Given the description of an element on the screen output the (x, y) to click on. 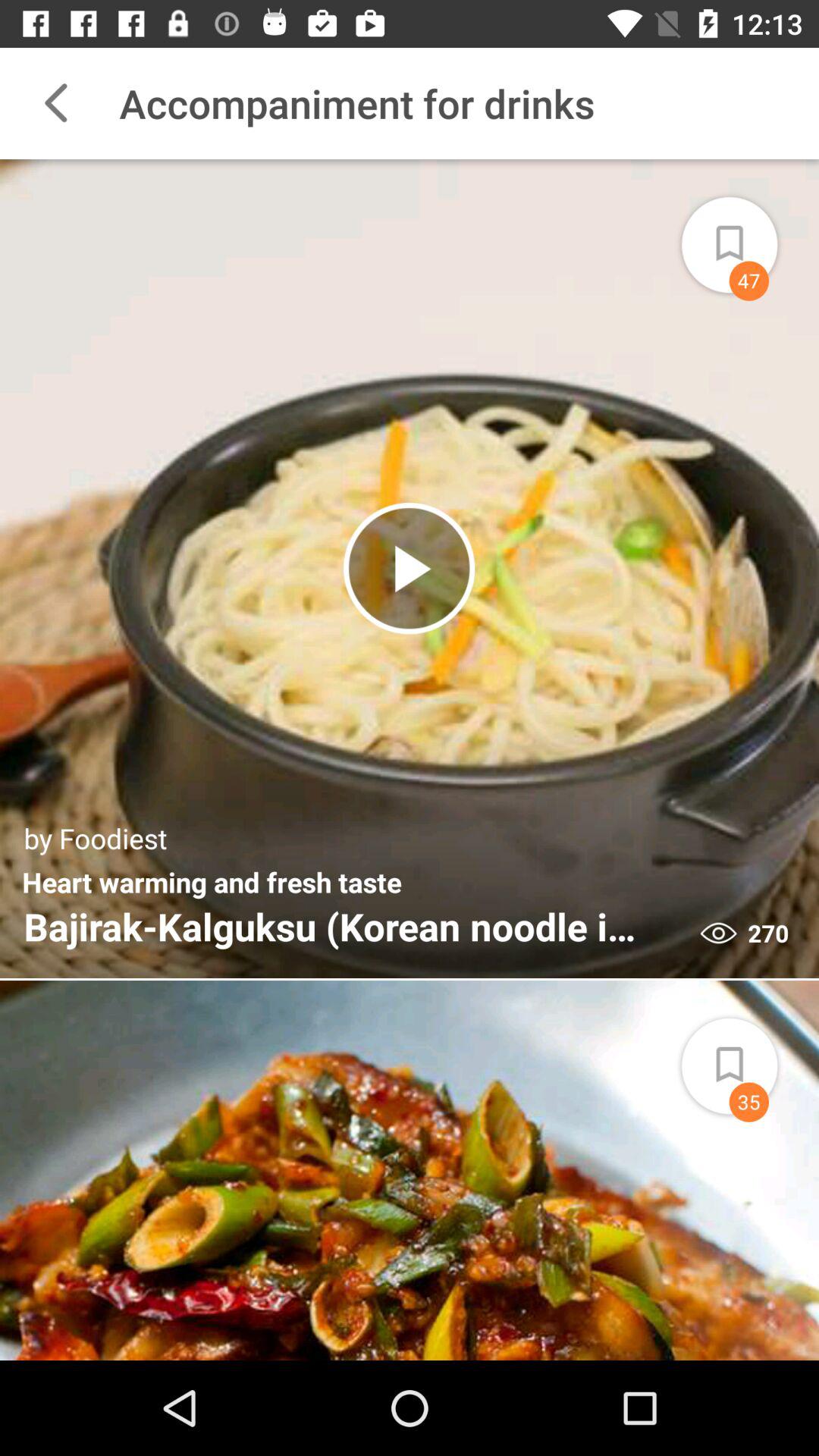
go to message (747, 235)
